Given the description of an element on the screen output the (x, y) to click on. 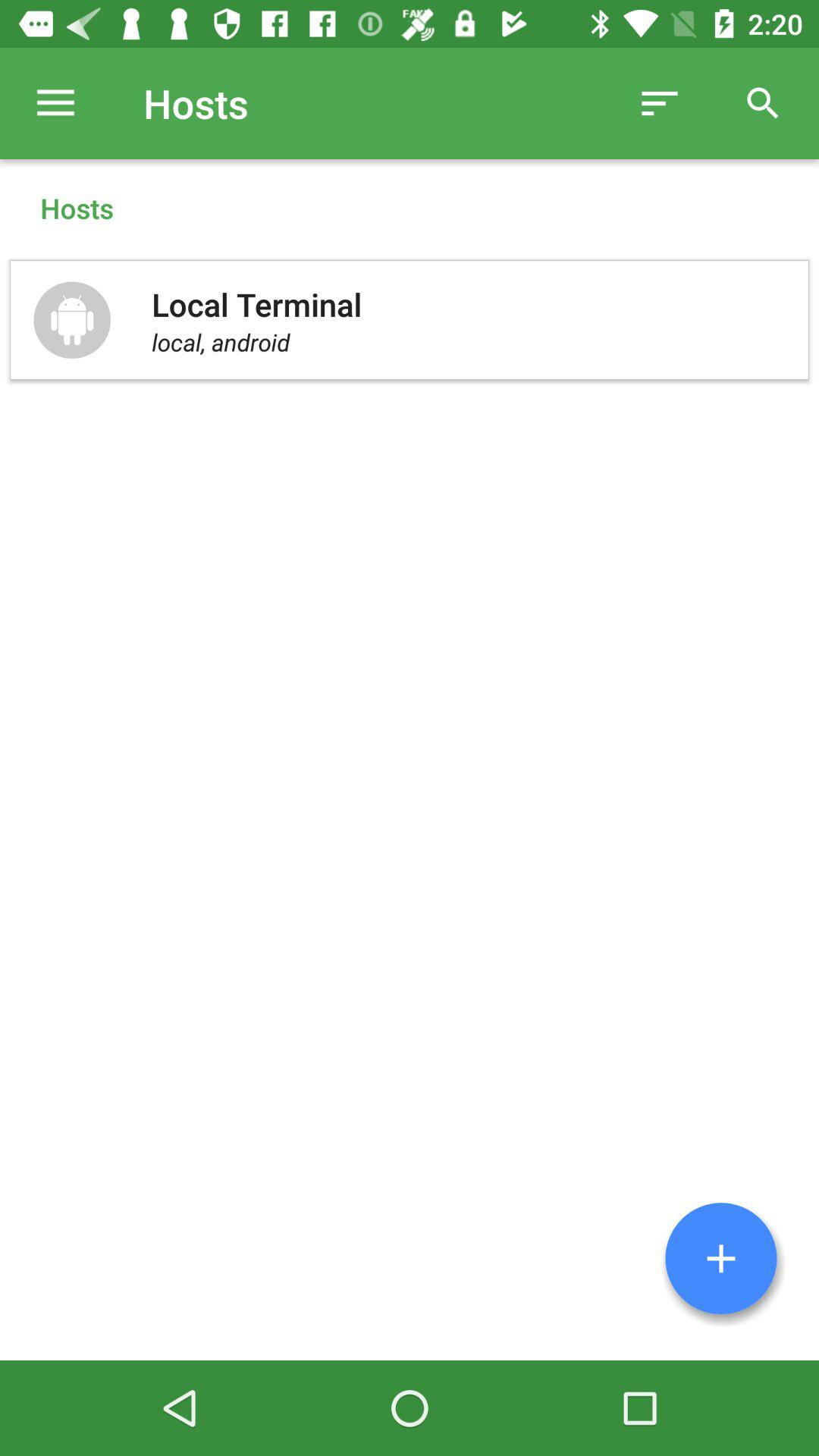
choose the item to the left of the hosts item (55, 103)
